Given the description of an element on the screen output the (x, y) to click on. 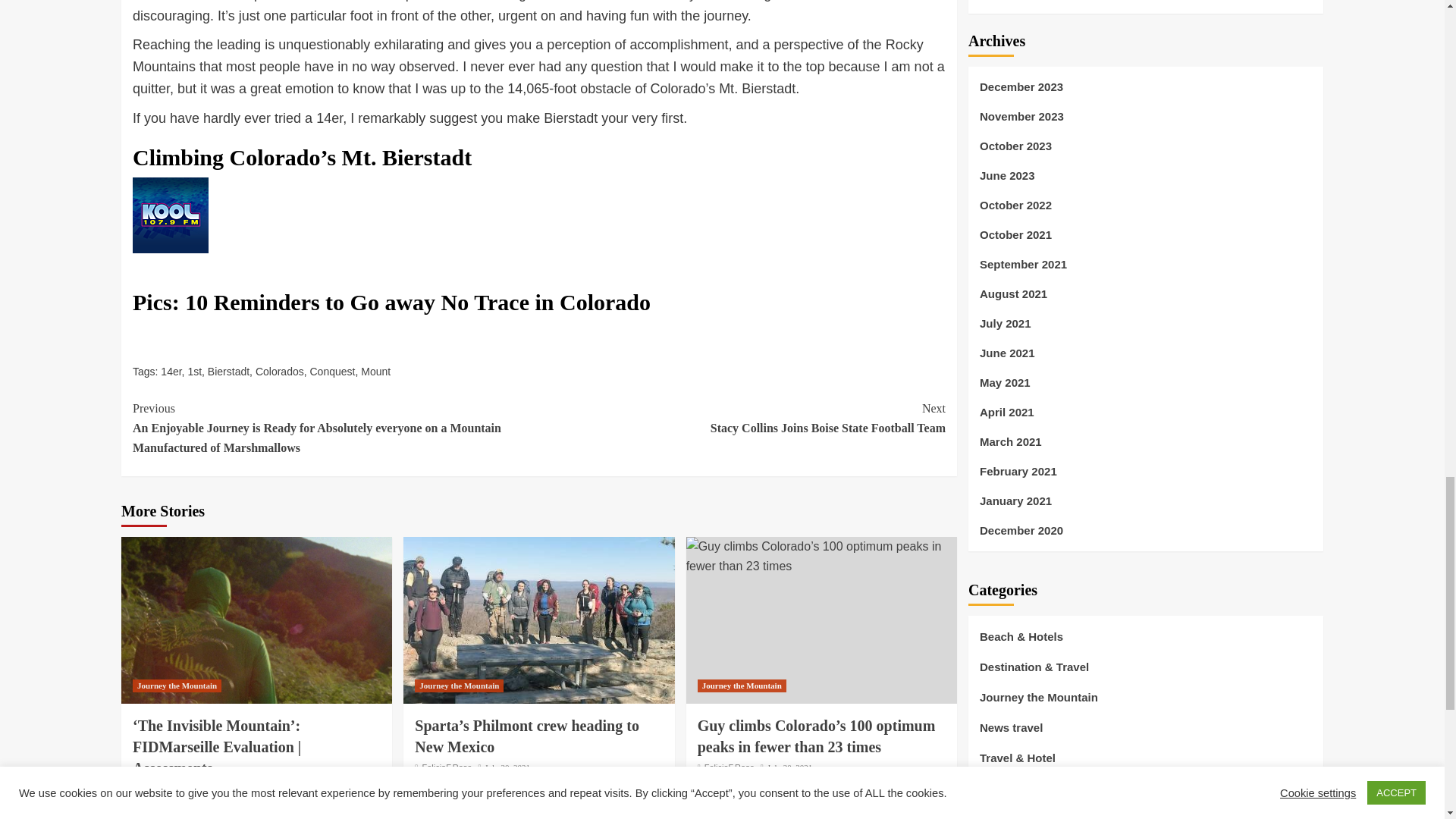
14er (741, 417)
FeliciaF.Rose (170, 371)
Bierstadt (446, 767)
Journey the Mountain (228, 371)
Journey the Mountain (458, 685)
July 20, 2021 (176, 685)
Conquest (224, 788)
Colorados (331, 371)
FeliciaF.Rose (280, 371)
Mount (164, 788)
1st (375, 371)
